Given the description of an element on the screen output the (x, y) to click on. 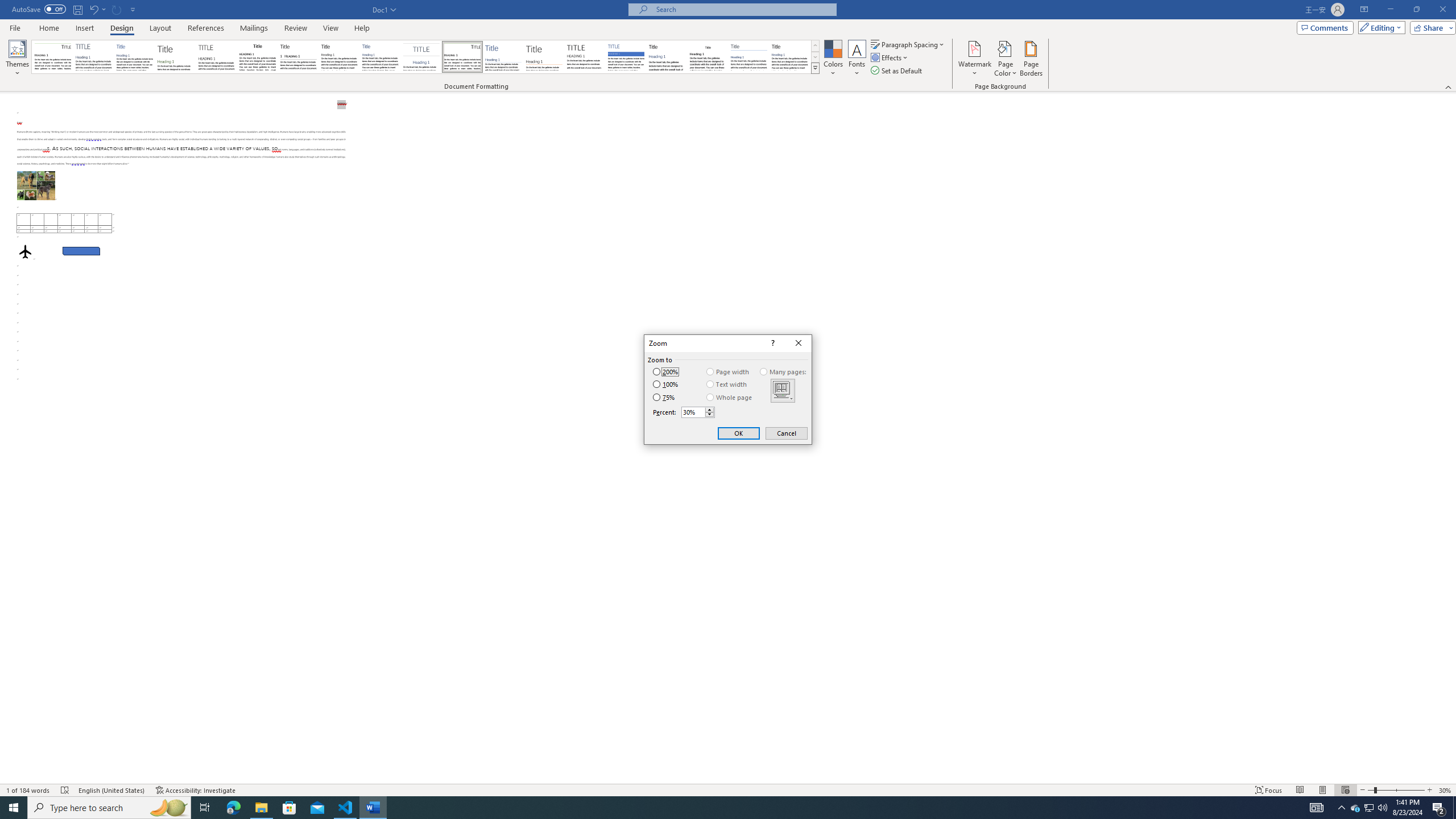
Basic (Elegant) (93, 56)
Basic (Stylish) (175, 56)
Word (666, 56)
Black & White (Numbered) (298, 56)
Can't Repeat (117, 9)
Black & White (Capitalized) (216, 56)
Minimalist (584, 56)
